Given the description of an element on the screen output the (x, y) to click on. 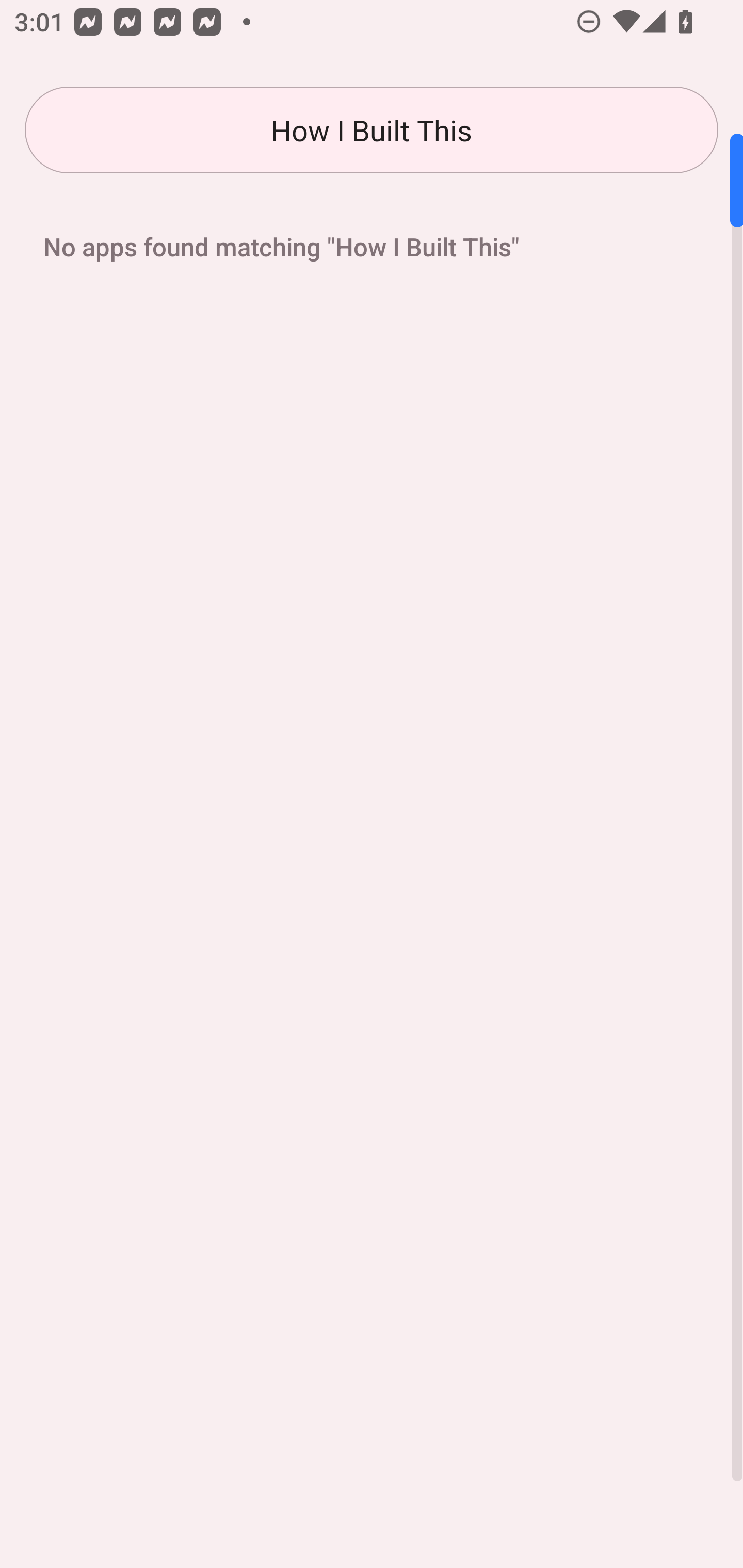
How I Built This (371, 130)
